Given the description of an element on the screen output the (x, y) to click on. 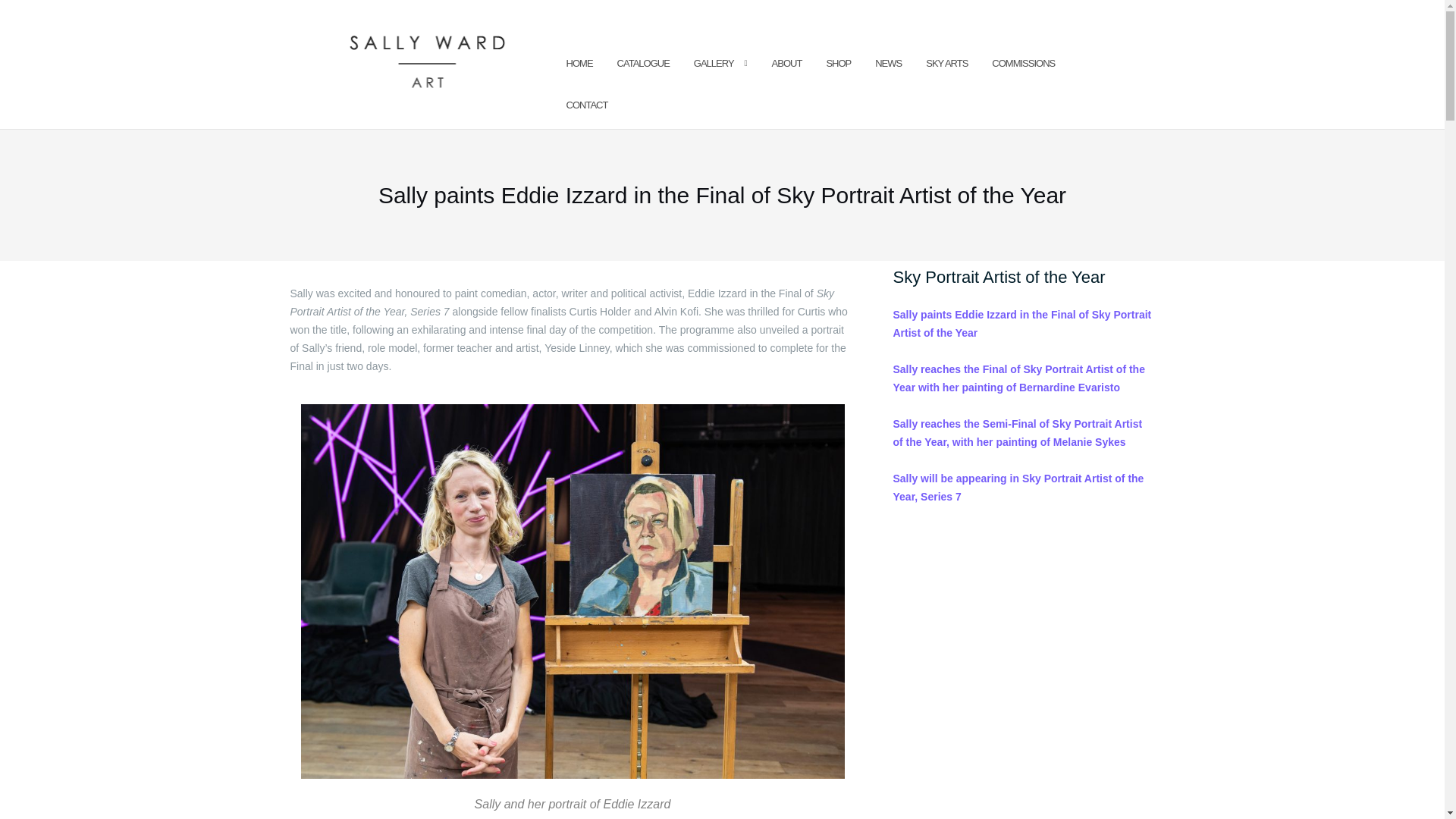
COMMISSIONS (1022, 64)
GALLERY (713, 64)
Sky Arts (947, 64)
Catalogue (643, 64)
CATALOGUE (643, 64)
SKY ARTS (947, 64)
Commissions (1022, 64)
